Given the description of an element on the screen output the (x, y) to click on. 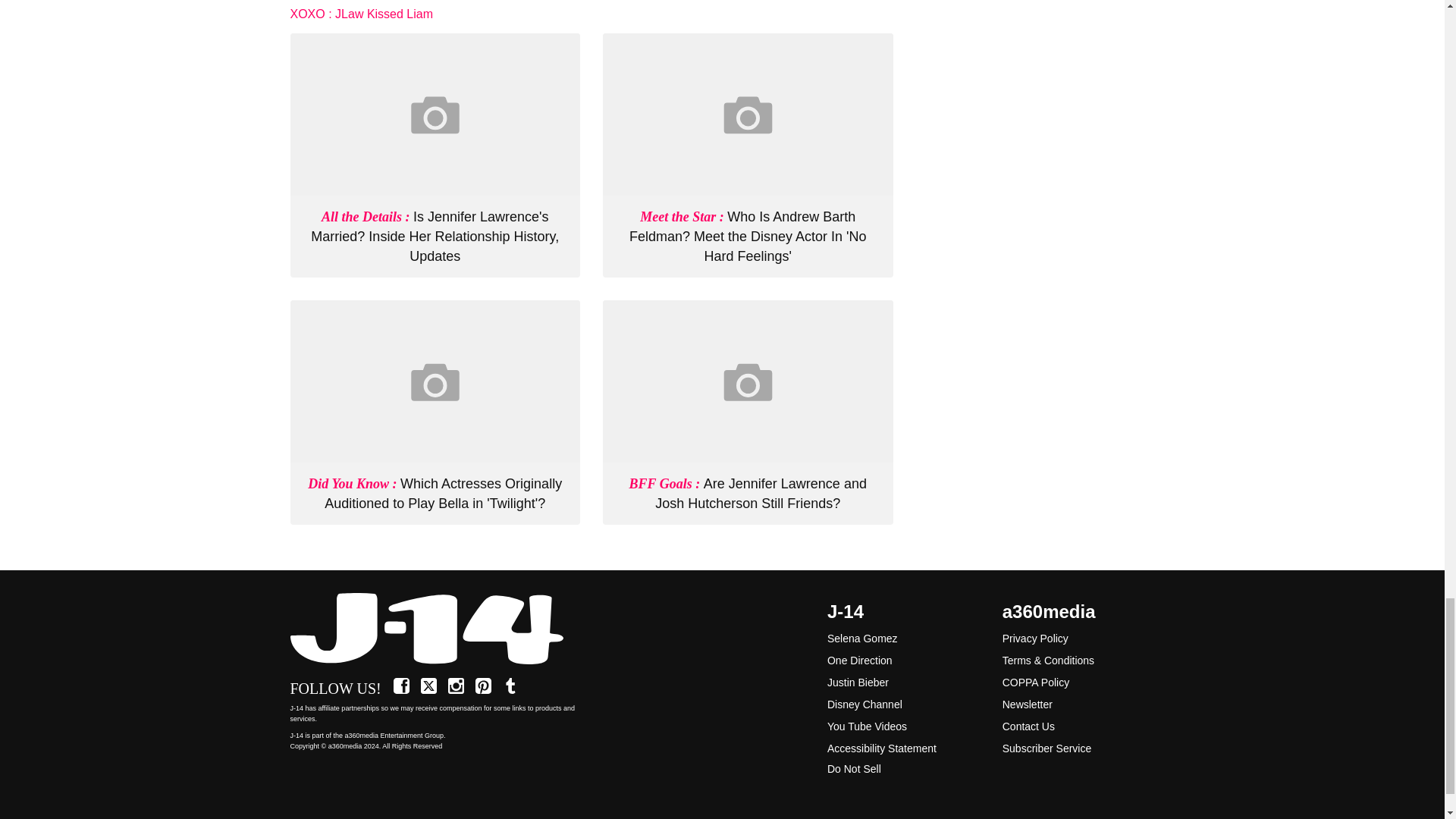
Home (434, 629)
XOXO JLaw Kissed Liam (360, 13)
